Given the description of an element on the screen output the (x, y) to click on. 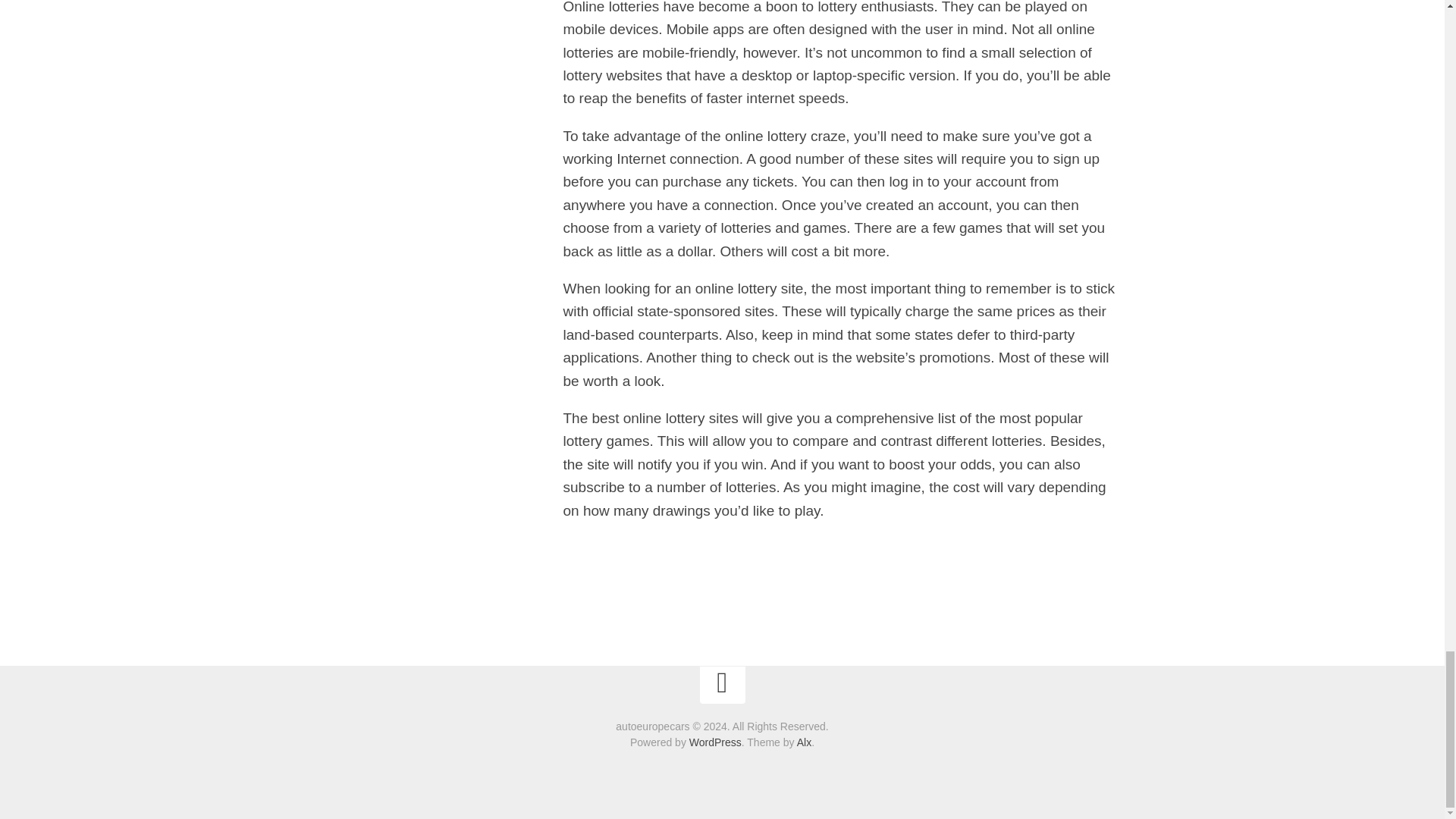
WordPress (714, 742)
Alx (803, 742)
